Given the description of an element on the screen output the (x, y) to click on. 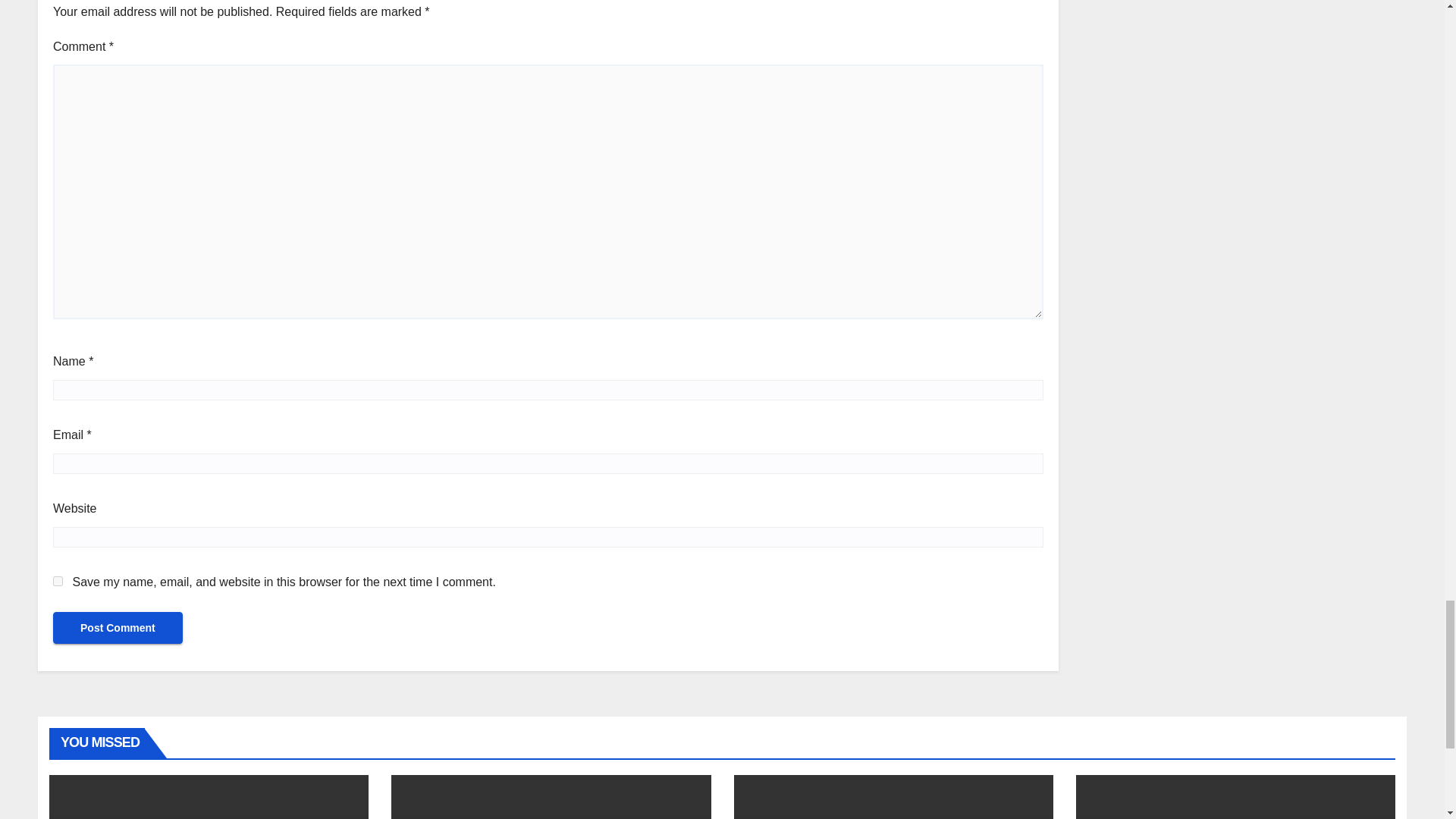
Post Comment (117, 627)
yes (57, 581)
